Given the description of an element on the screen output the (x, y) to click on. 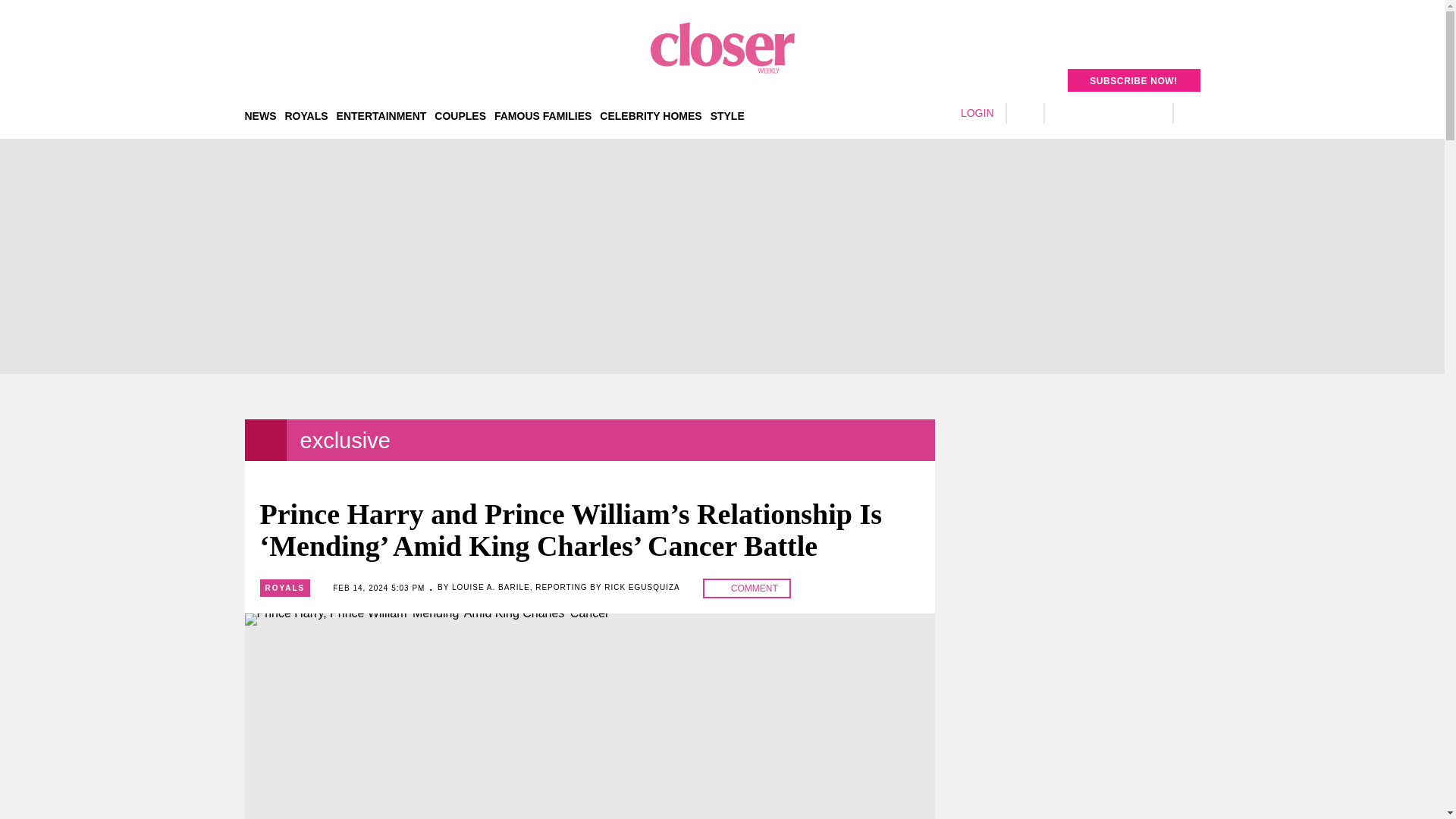
ENTERTAINMENT (381, 115)
NEWS (260, 115)
ROYALS (307, 115)
